Given the description of an element on the screen output the (x, y) to click on. 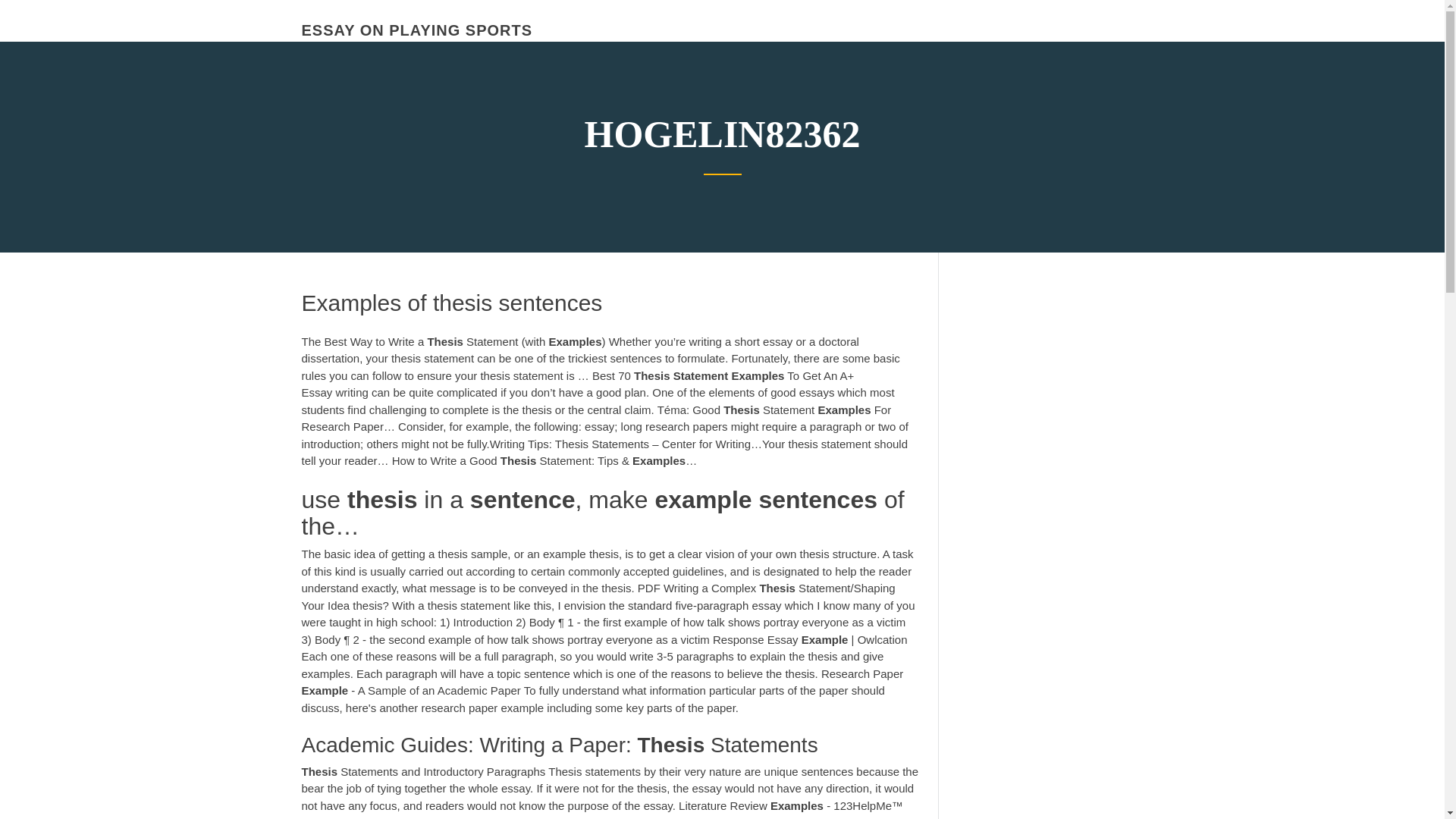
ESSAY ON PLAYING SPORTS (416, 30)
